Given the description of an element on the screen output the (x, y) to click on. 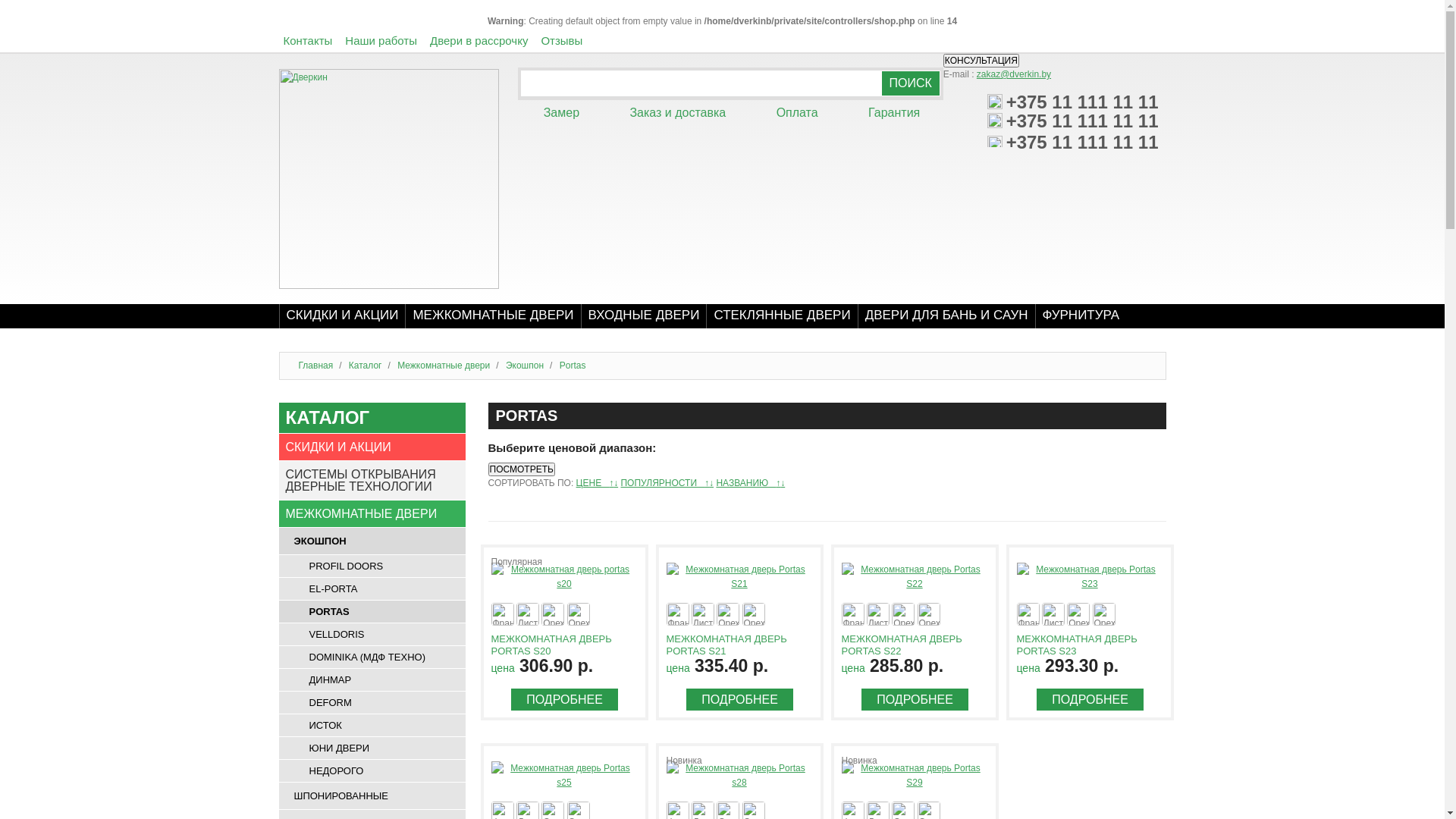
Portas Element type: text (573, 365)
DEFORM Element type: text (372, 702)
zakaz@dverkin.by Element type: text (1013, 74)
PORTAS Element type: text (372, 611)
EL-PORTA Element type: text (372, 588)
VELLDORIS Element type: text (372, 634)
PROFIL DOORS Element type: text (372, 566)
